Given the description of an element on the screen output the (x, y) to click on. 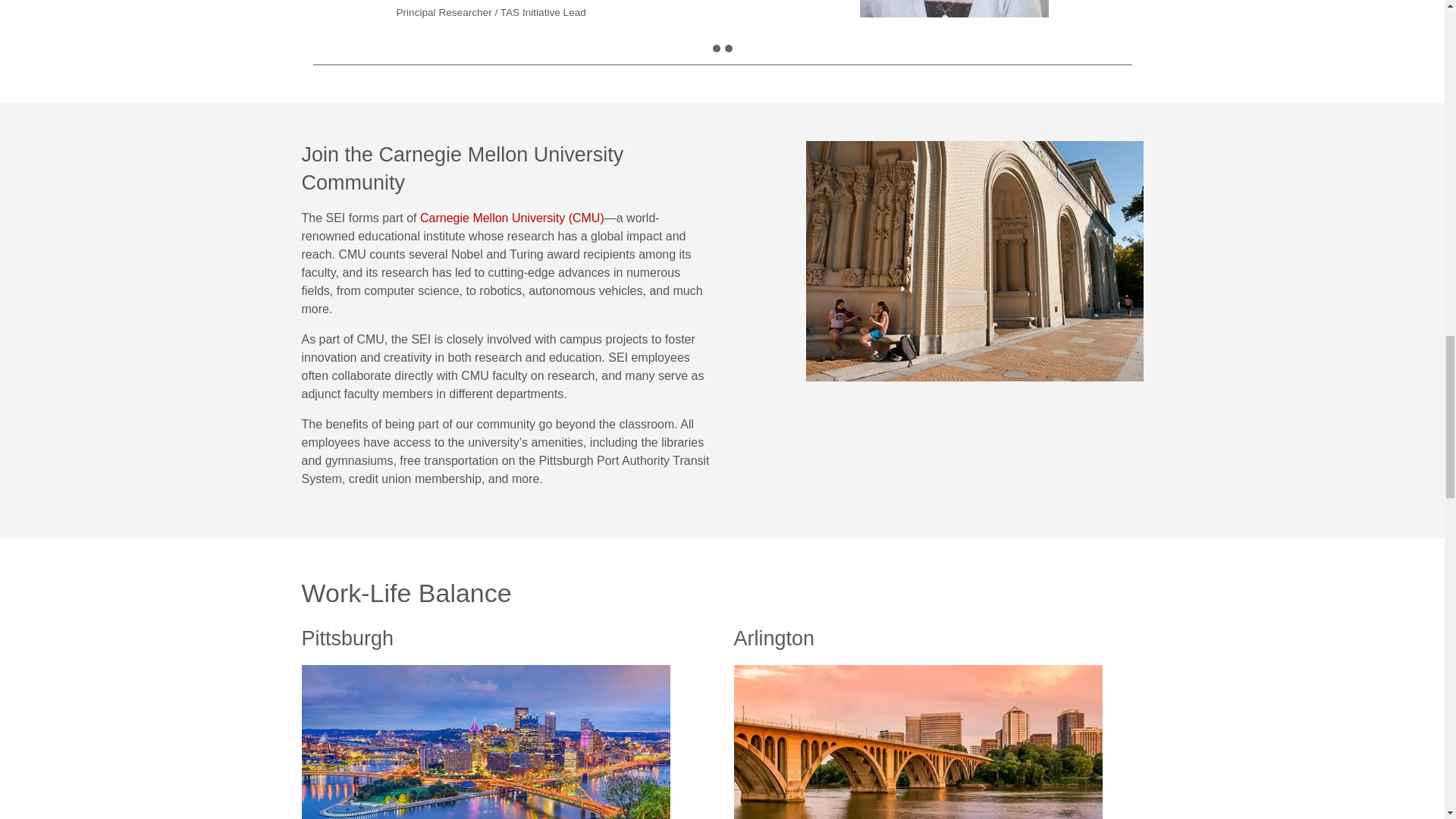
Arlington Top Secret (917, 742)
Top Secret Pittsburgh (485, 742)
